Given the description of an element on the screen output the (x, y) to click on. 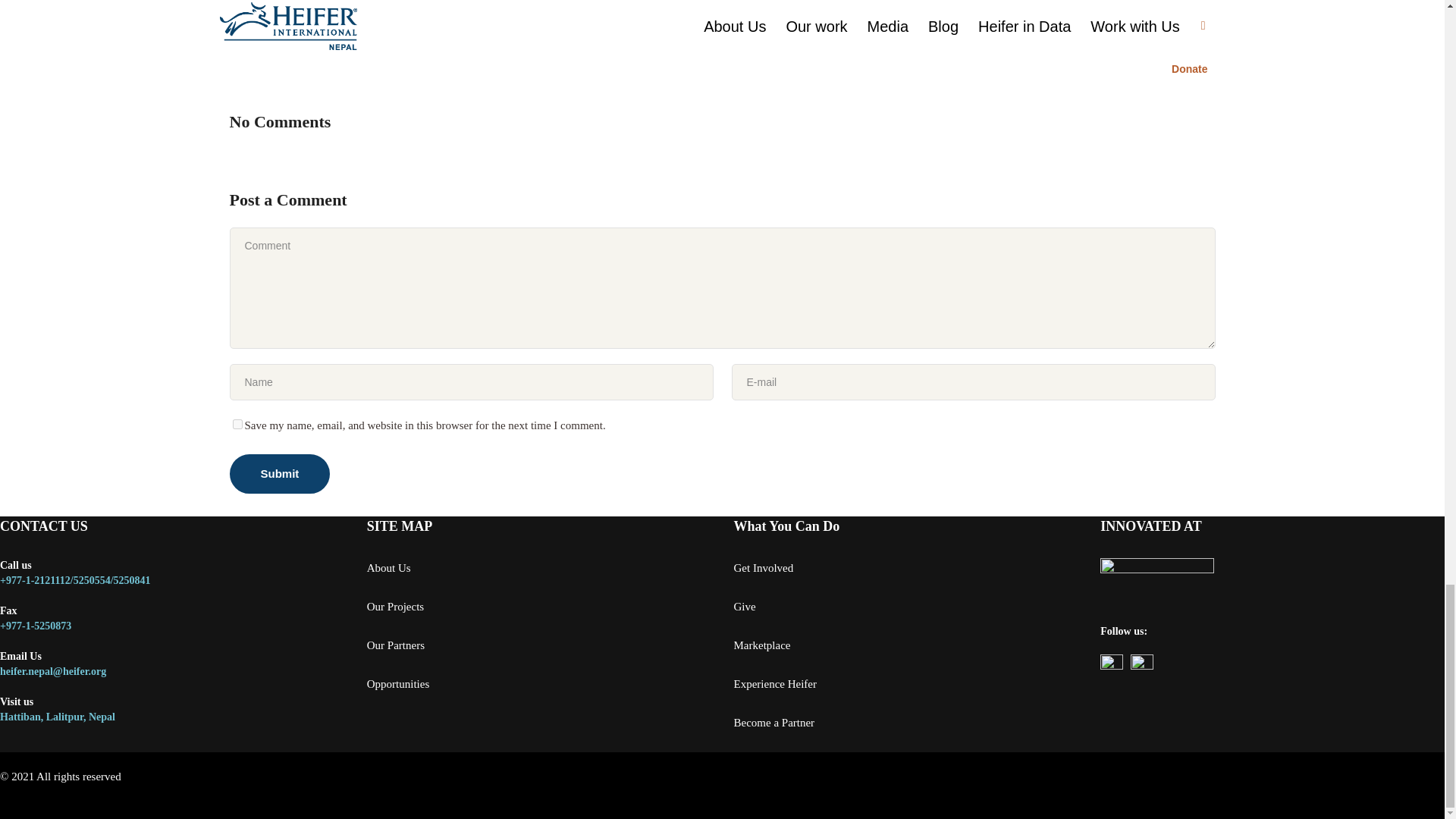
yes (236, 424)
Submit (279, 473)
